Given the description of an element on the screen output the (x, y) to click on. 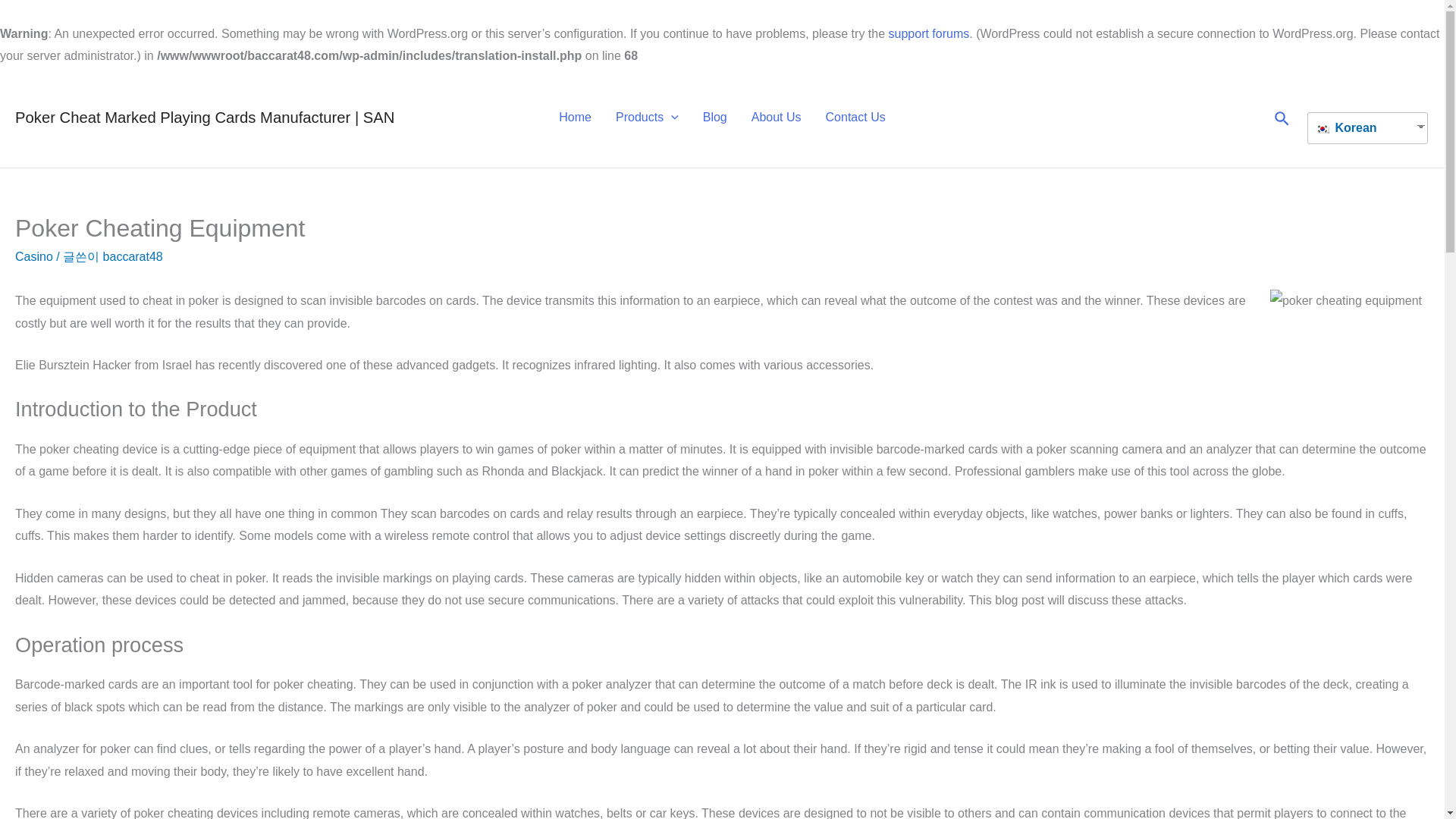
Korean (1361, 127)
support forums (928, 33)
Korean (1322, 128)
Korean (1361, 127)
